Given the description of an element on the screen output the (x, y) to click on. 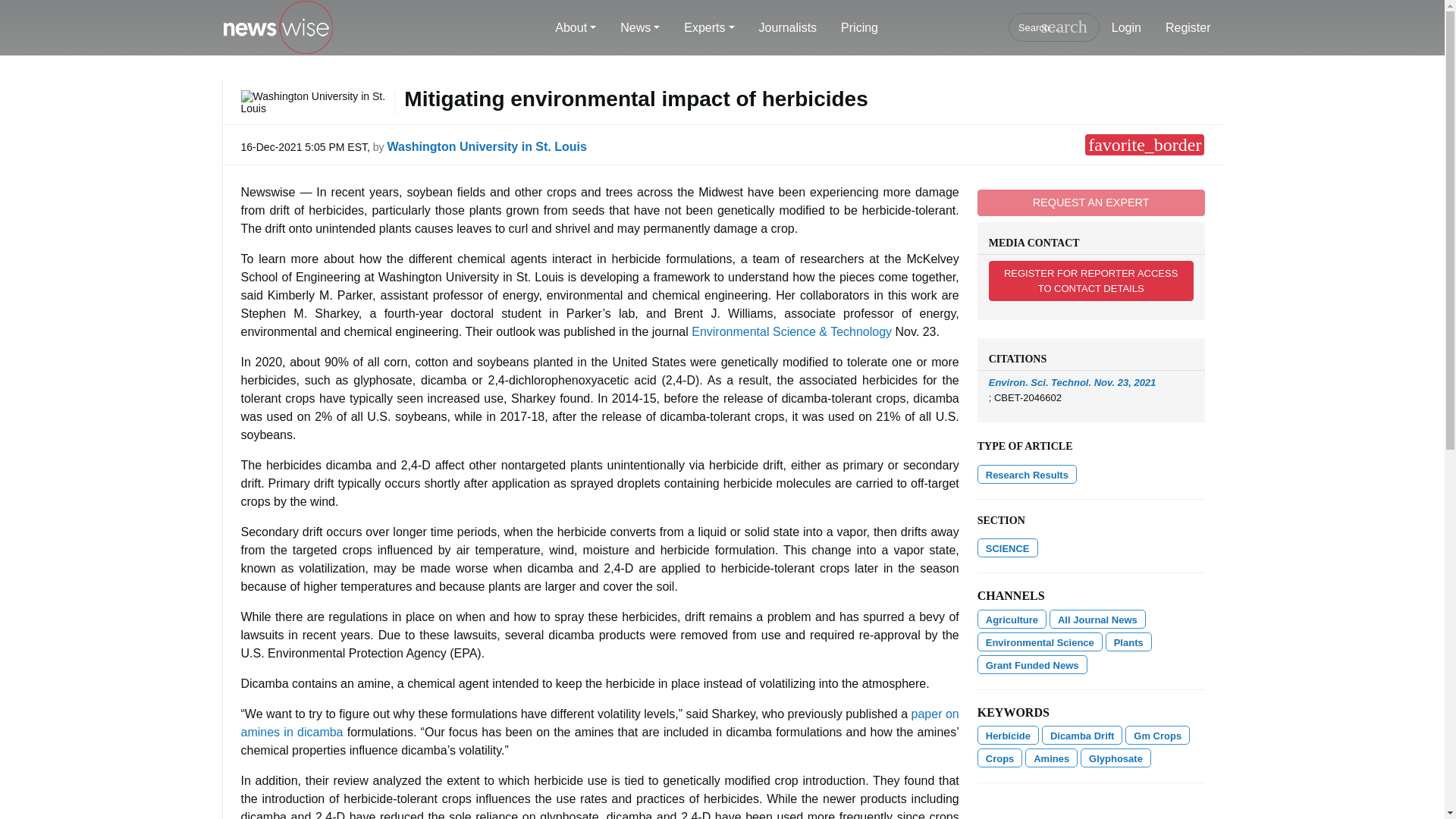
Show all articles in this channel (1039, 641)
Add to Favorites (1144, 144)
Research Results (1026, 474)
Newswise logo (277, 28)
Show all articles in this channel (1011, 618)
About (575, 27)
Show all articles in this channel (1097, 618)
News (639, 27)
Show all articles in this channel (1007, 547)
